Given the description of an element on the screen output the (x, y) to click on. 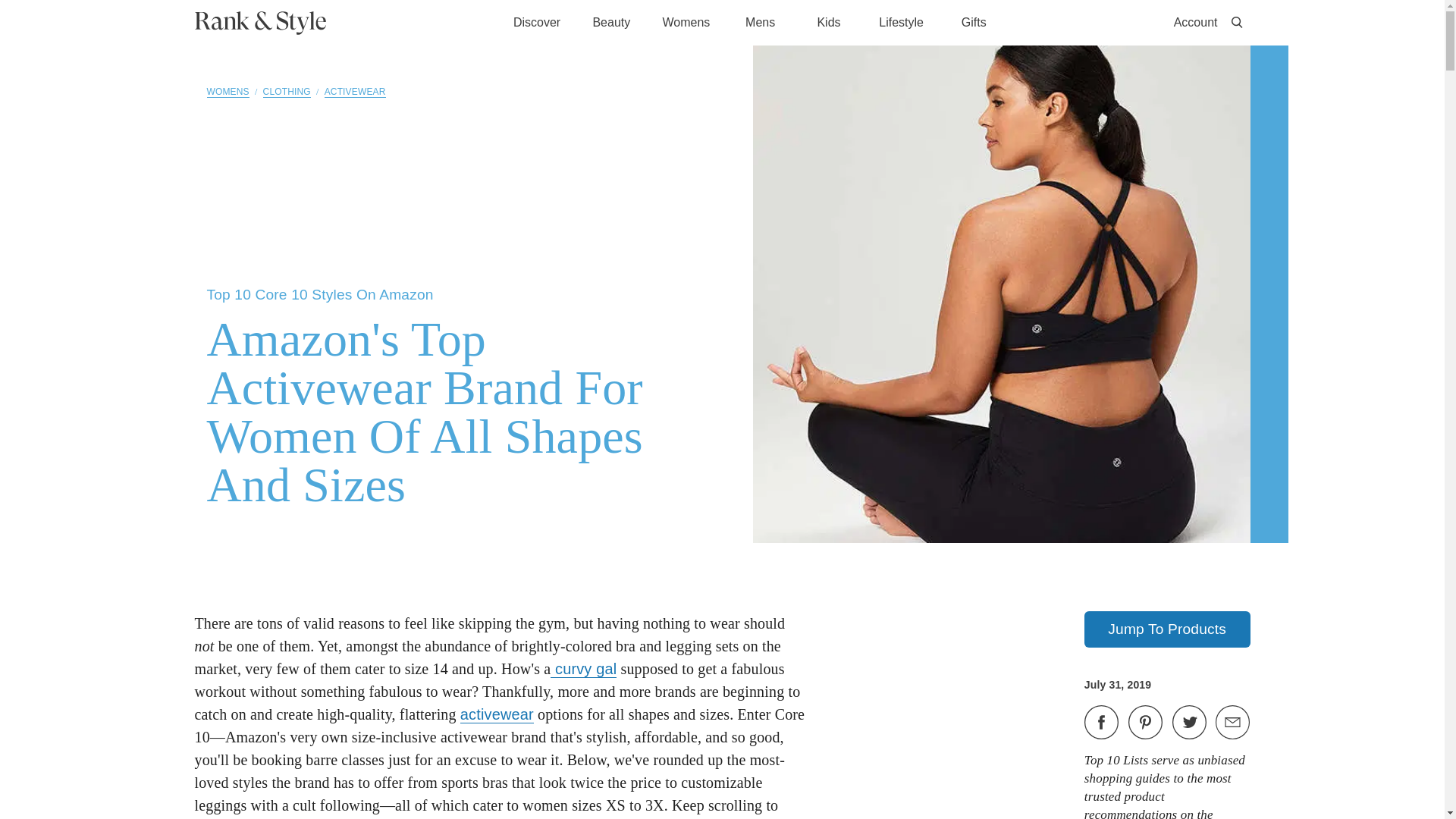
Account (1195, 23)
Mens (760, 22)
curvy gal (582, 669)
CLOTHING (287, 91)
ACTIVEWEAR (354, 91)
Jump To Products (1167, 628)
Beauty (611, 21)
Discover (536, 22)
Kids (829, 22)
Lifestyle (901, 22)
Gifts (973, 22)
Mens (760, 21)
Womens (686, 21)
activewear (497, 714)
Beauty (611, 22)
